Given the description of an element on the screen output the (x, y) to click on. 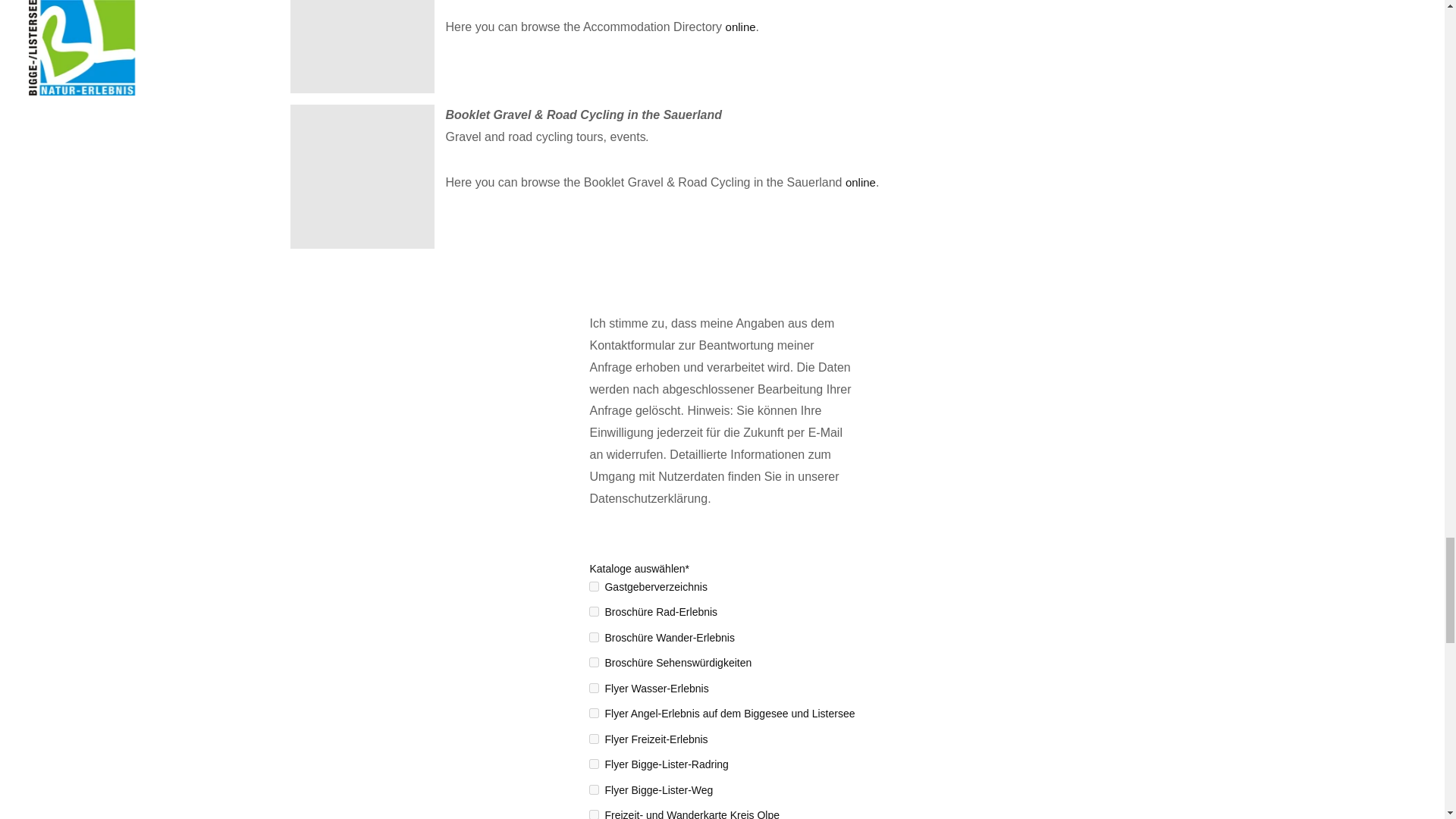
Gastgeberverzeichnis (593, 586)
Flyer Wasser-Erlebnis (593, 687)
Flyer Angel-Erlebnis auf dem Biggesee und Listersee (593, 713)
Flyer Bigge-Lister-Radring (593, 764)
Flyer Bigge-Lister-Weg (593, 789)
Flyer Freizeit-Erlebnis (593, 738)
Freizeit- und Wanderkarte Kreis Olpe (593, 814)
